Given the description of an element on the screen output the (x, y) to click on. 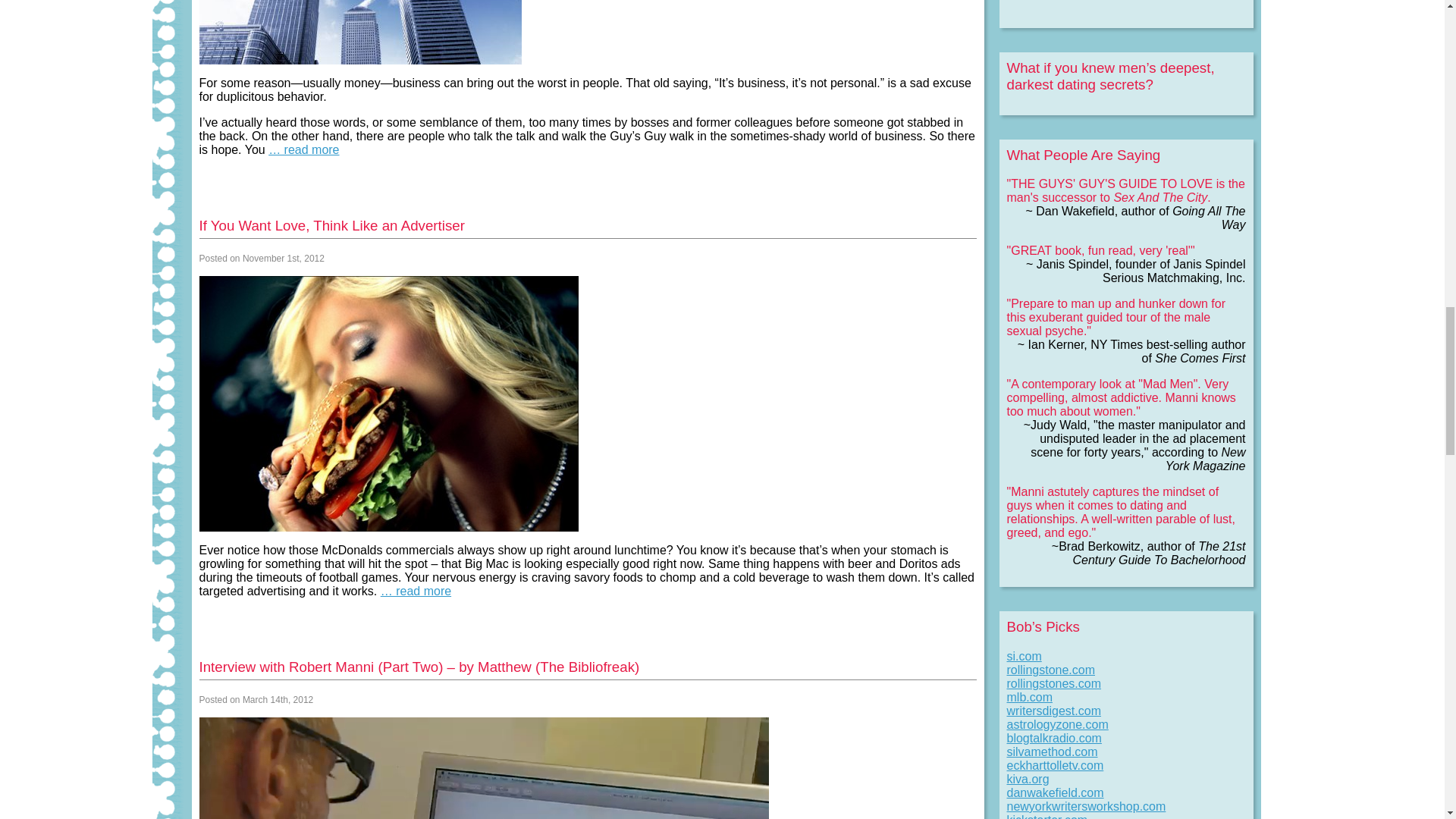
If You Want Love, Think Like an Advertiser (331, 225)
If You Want Love, Think Like an Advertiser (331, 225)
